Given the description of an element on the screen output the (x, y) to click on. 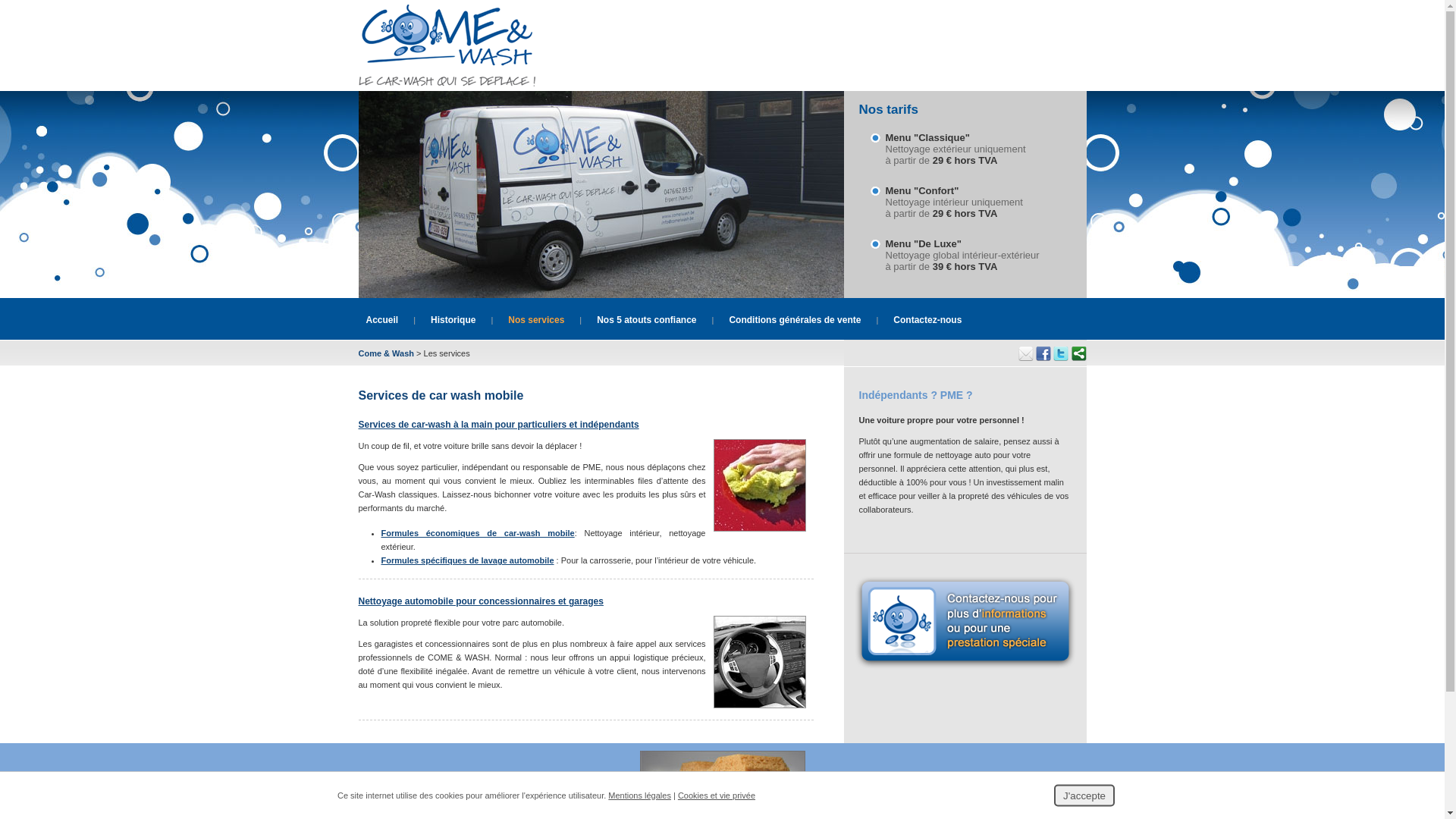
Accueil Element type: text (381, 319)
Nettoyage automobile pour concessionnaires et garages Element type: text (479, 601)
Nettoyage automobile pour concessionnaires et garages Element type: hover (758, 712)
Contactez-nous Element type: text (927, 319)
Come & Wash Element type: text (385, 352)
Historique Element type: text (452, 319)
Contactez-nous Element type: hover (964, 621)
Nos services Element type: text (536, 319)
Nos 5 atouts confiance Element type: text (646, 319)
